Given the description of an element on the screen output the (x, y) to click on. 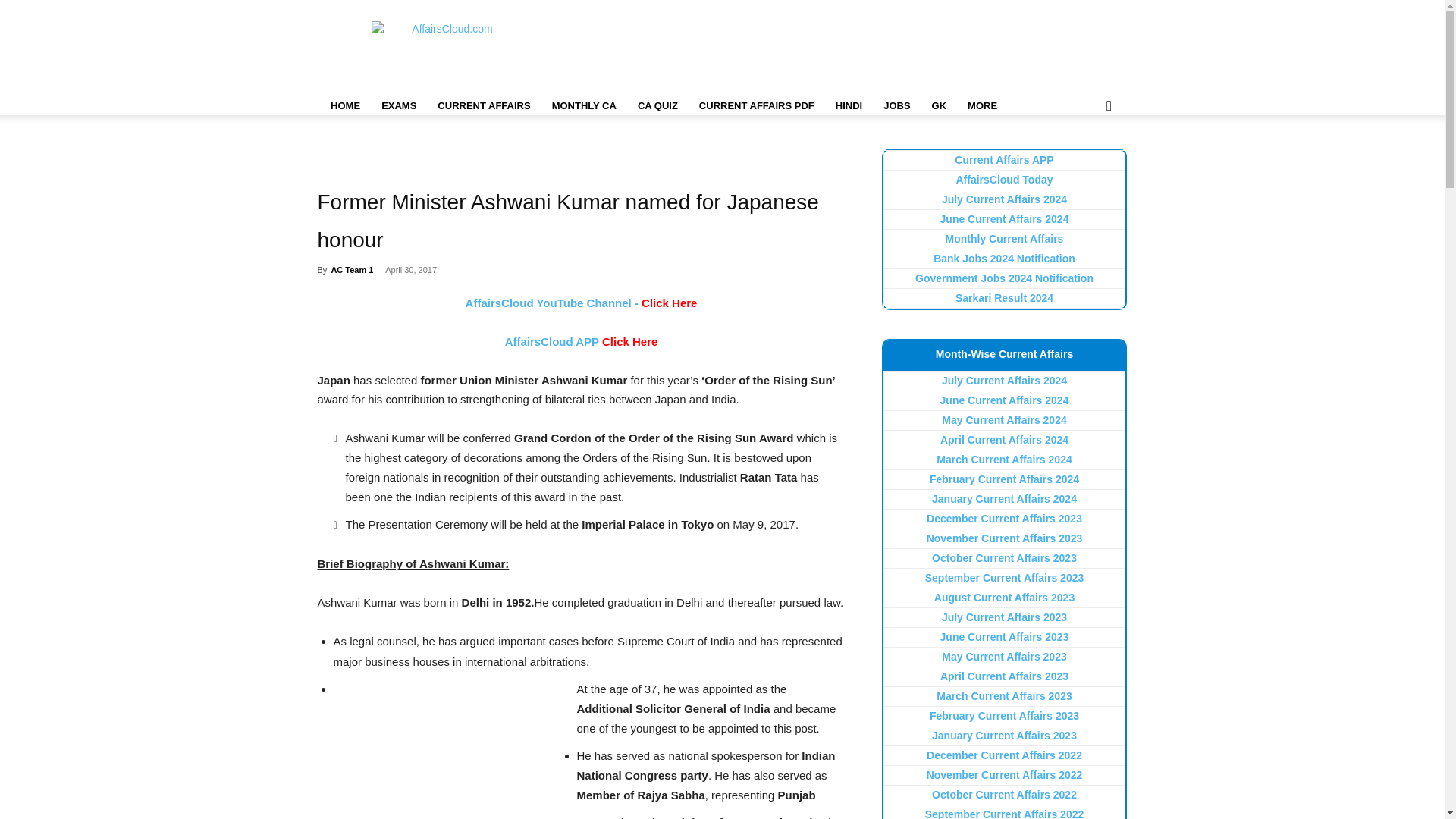
Current Affairs PDF (756, 105)
Home (344, 105)
Current Affairs Quiz (657, 105)
AffairsCloud (446, 55)
Current Affairs Hindi (848, 105)
Current Affairs (483, 105)
